Given the description of an element on the screen output the (x, y) to click on. 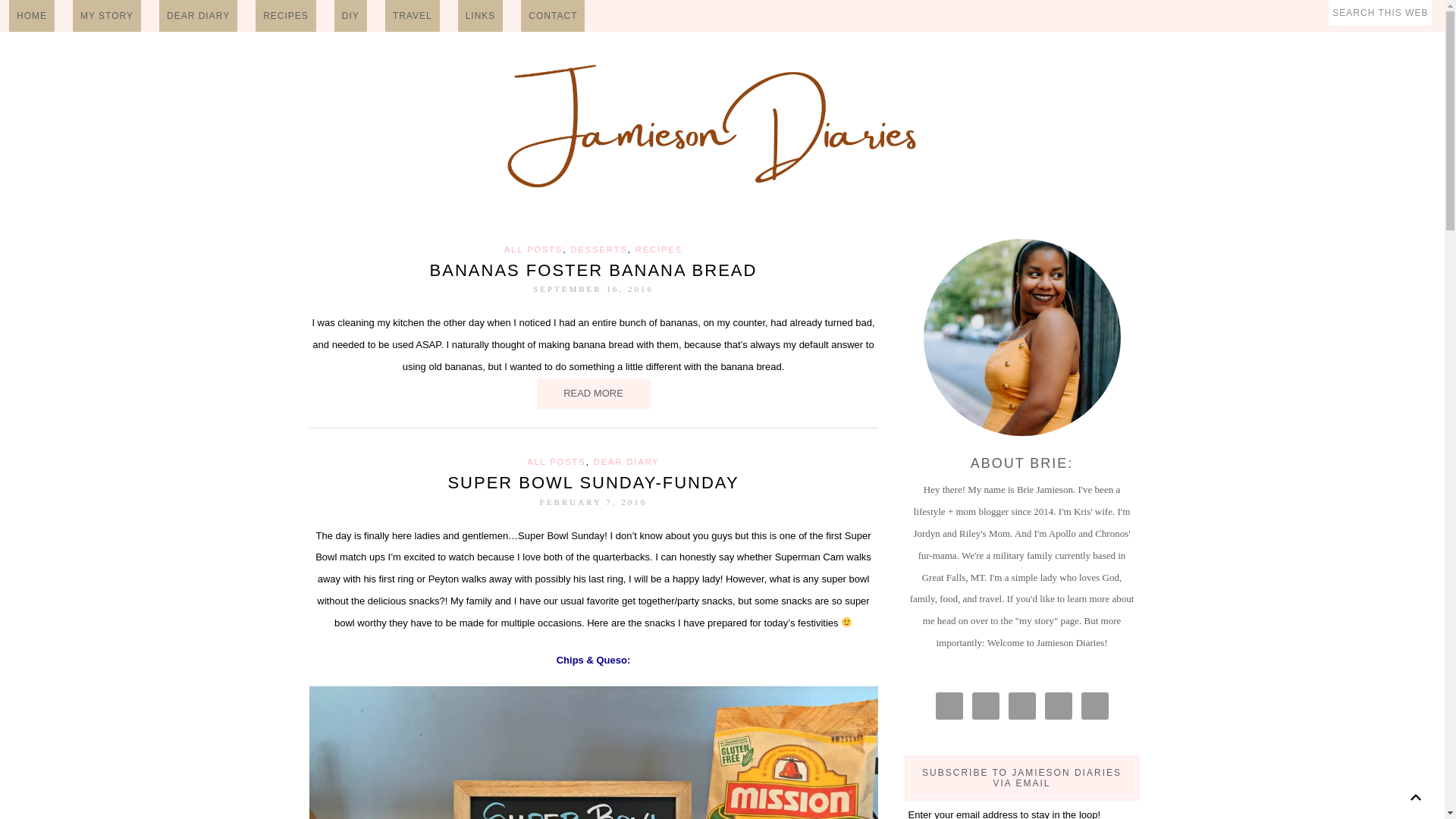
RECIPES (658, 248)
MY STORY (106, 15)
DIY (350, 15)
ALL POSTS (533, 248)
LINKS (480, 15)
RECIPES (285, 15)
DEAR DIARY (626, 461)
ALL POSTS (556, 461)
CONTACT (553, 15)
DEAR DIARY (197, 15)
TRAVEL (412, 15)
DESSERTS (598, 248)
READ MORE (593, 393)
HOME (31, 15)
BANANAS FOSTER BANANA BREAD (593, 270)
